Given the description of an element on the screen output the (x, y) to click on. 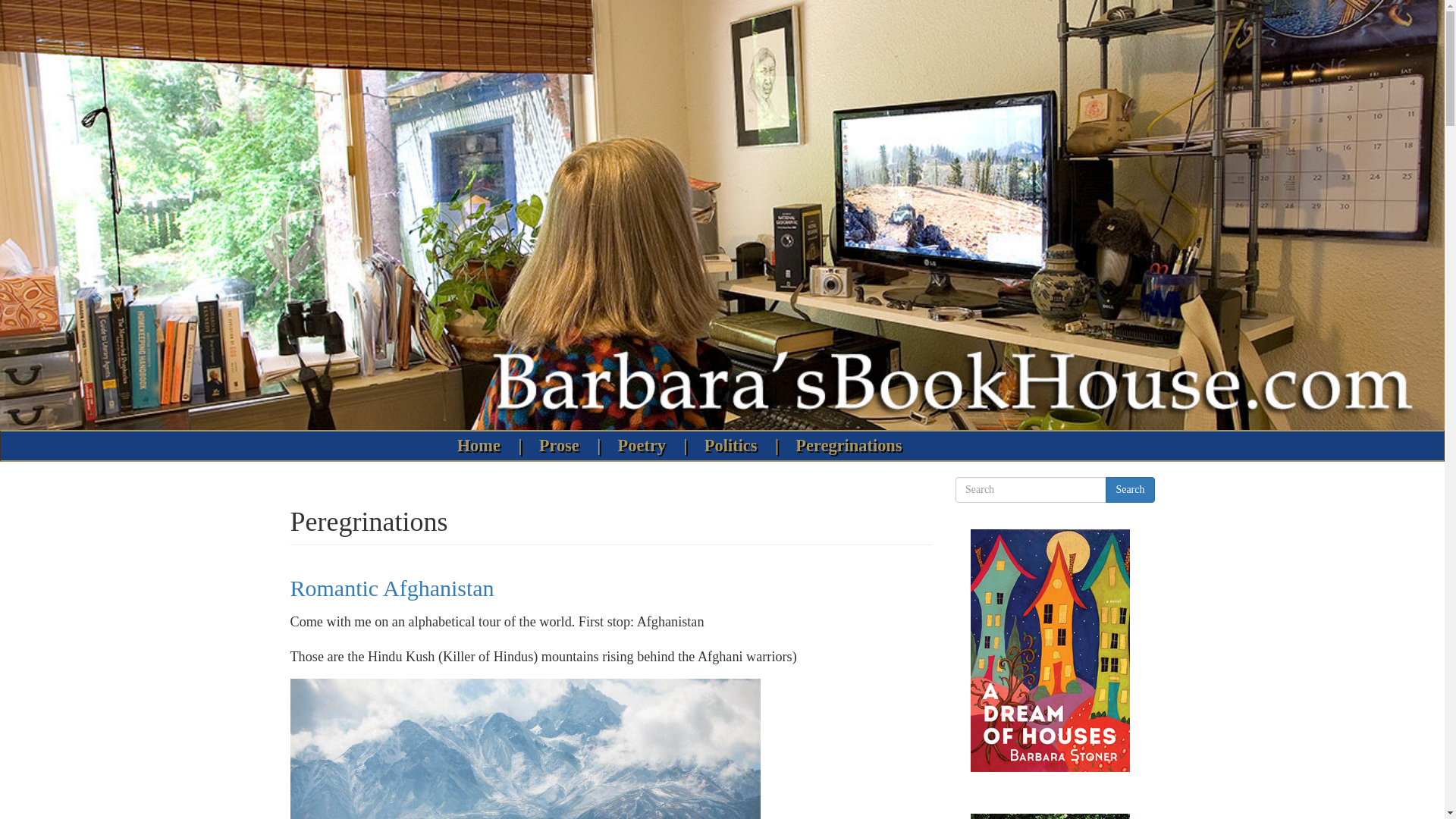
Prose (563, 445)
Poetry (645, 445)
Politics (734, 445)
Romantic Afghanistan (391, 587)
Peregrinations (848, 445)
Home (481, 445)
